Given the description of an element on the screen output the (x, y) to click on. 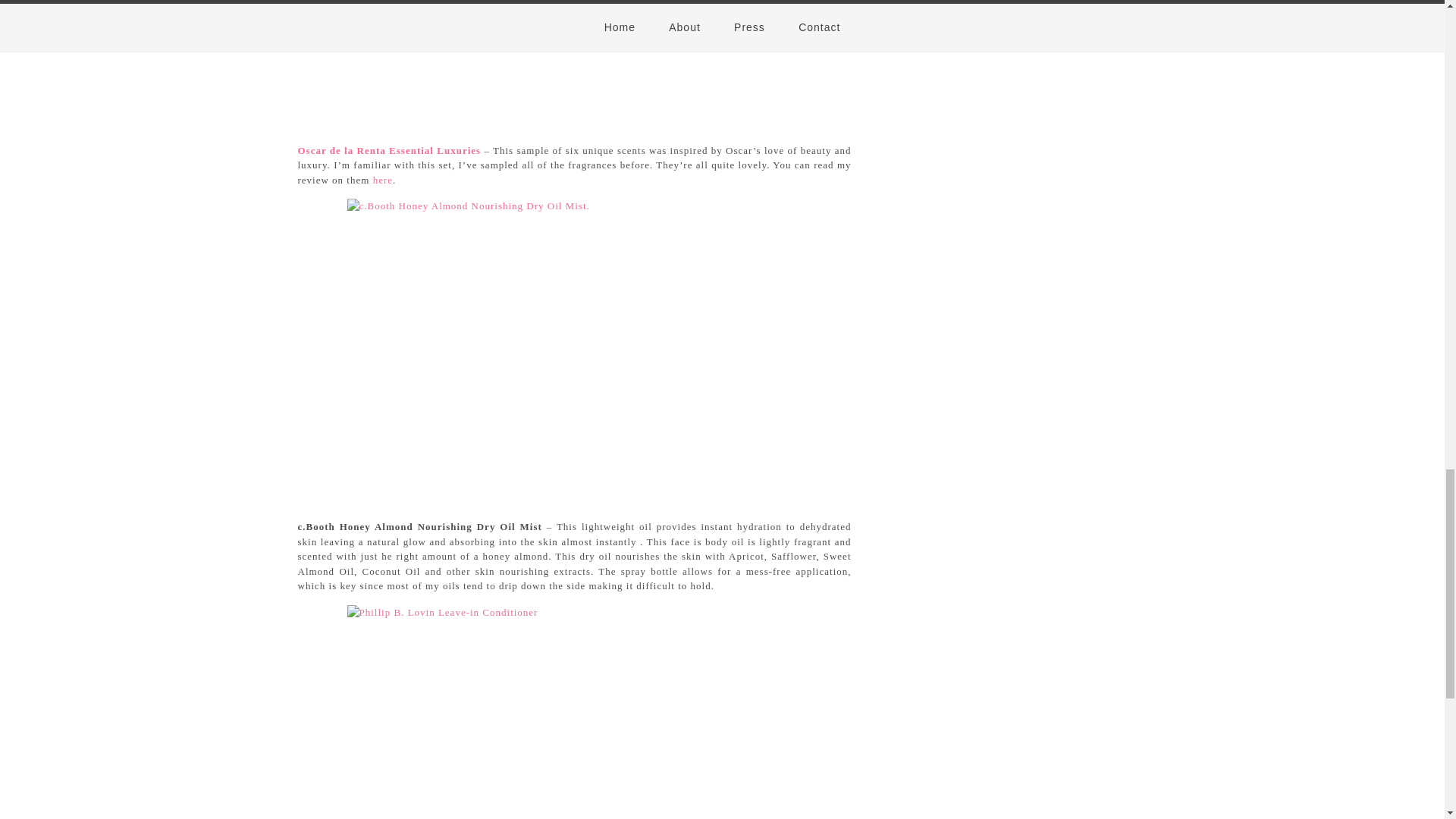
here (382, 179)
Oscar de la Renta Essential Luxuries Collection (388, 149)
Oscar de la Renta Essential Luxuries (388, 149)
Oscar de la Renta Essential Luxuries Collection (382, 179)
